Given the description of an element on the screen output the (x, y) to click on. 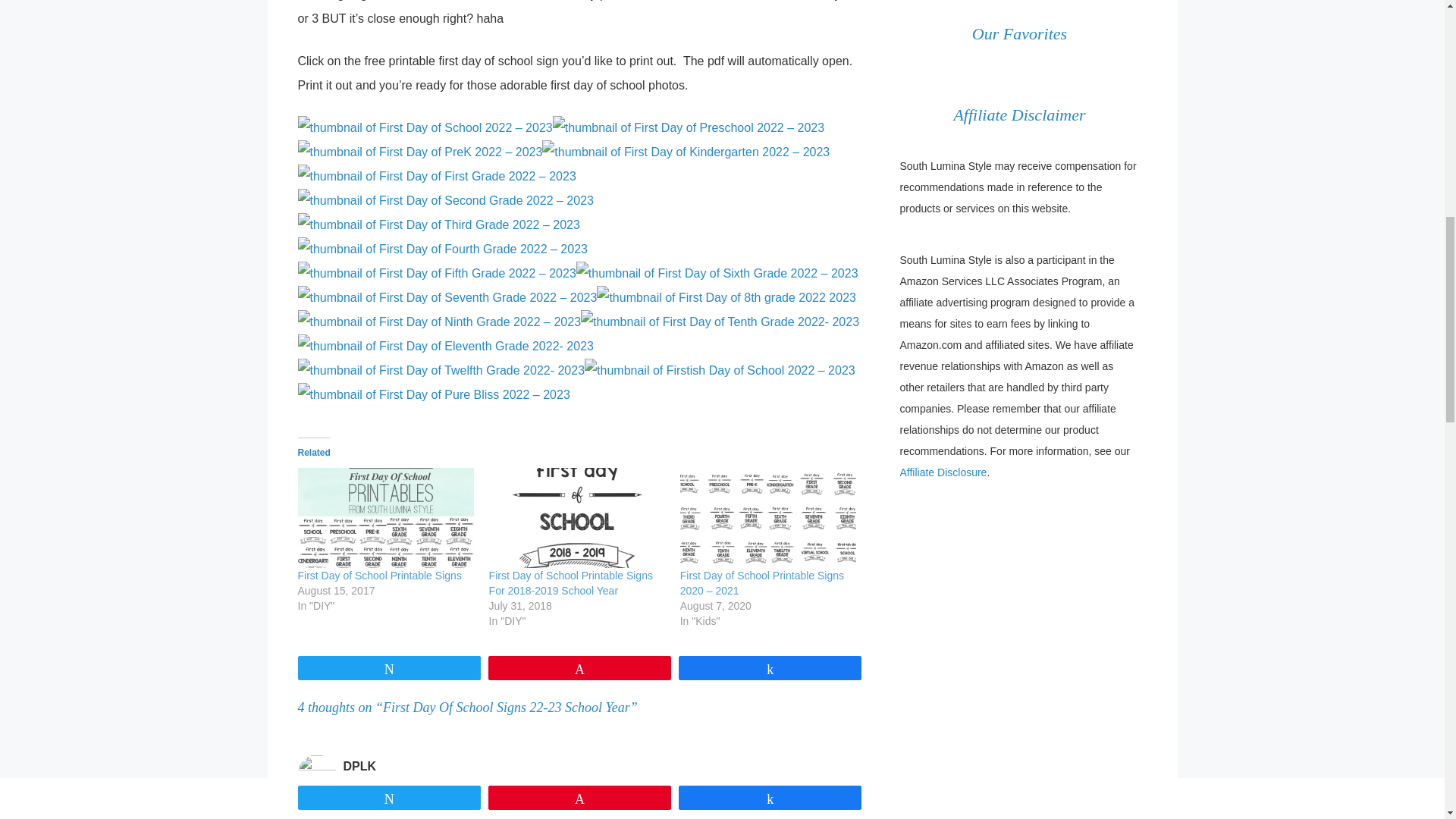
First Day of Sixth Grade 2022 - 2023 (717, 273)
First Day of PreK 2022 - 2023 (419, 151)
First Day of First Grade 2022 - 2023 (436, 175)
First Day of Kindergarten 2022 - 2023 (685, 151)
First Day of Third Grade 2022 - 2023 (438, 224)
First Day of 8th grade 2022 2023 (726, 297)
First Day of School 2022 - 2023 (424, 127)
First Day of Fifth Grade 2022 - 2023 (436, 273)
First Day of Second Grade 2022 - 2023 (444, 200)
First Day of Preschool 2022 - 2023 (688, 127)
First Day of Fourth Grade 2022 - 2023 (441, 248)
First Day of Seventh Grade 2022 - 2023 (446, 297)
